Given the description of an element on the screen output the (x, y) to click on. 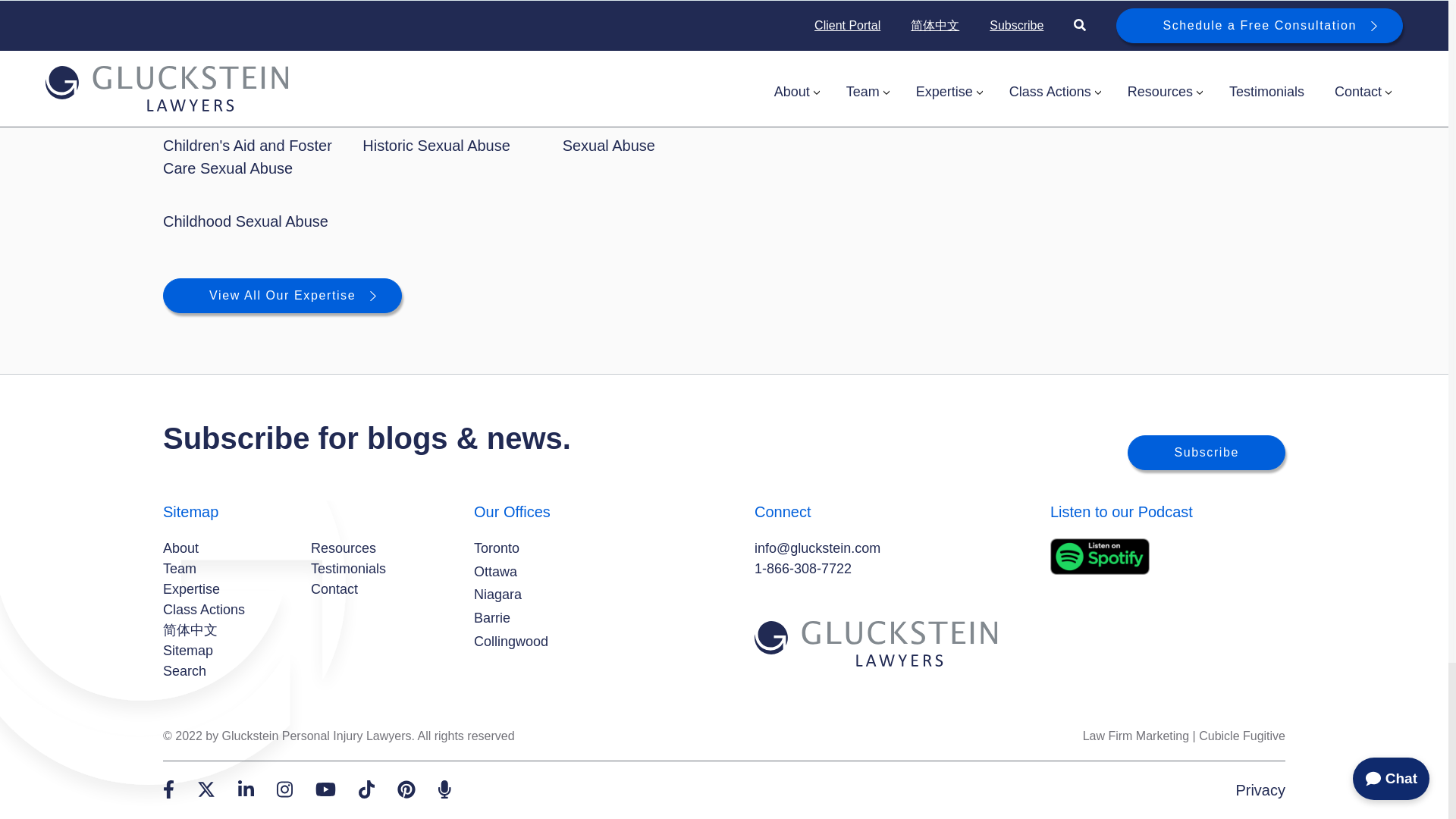
Historic Sexual Abuse (436, 145)
Childhood Sexual Abuse (246, 221)
Collingwood (511, 641)
Niagara (497, 594)
Toronto (496, 548)
Barrie (492, 618)
Children's Aid and Foster Care Sexual Abuse (247, 156)
Ottawa (495, 571)
Sexual Abuse (608, 145)
